Given the description of an element on the screen output the (x, y) to click on. 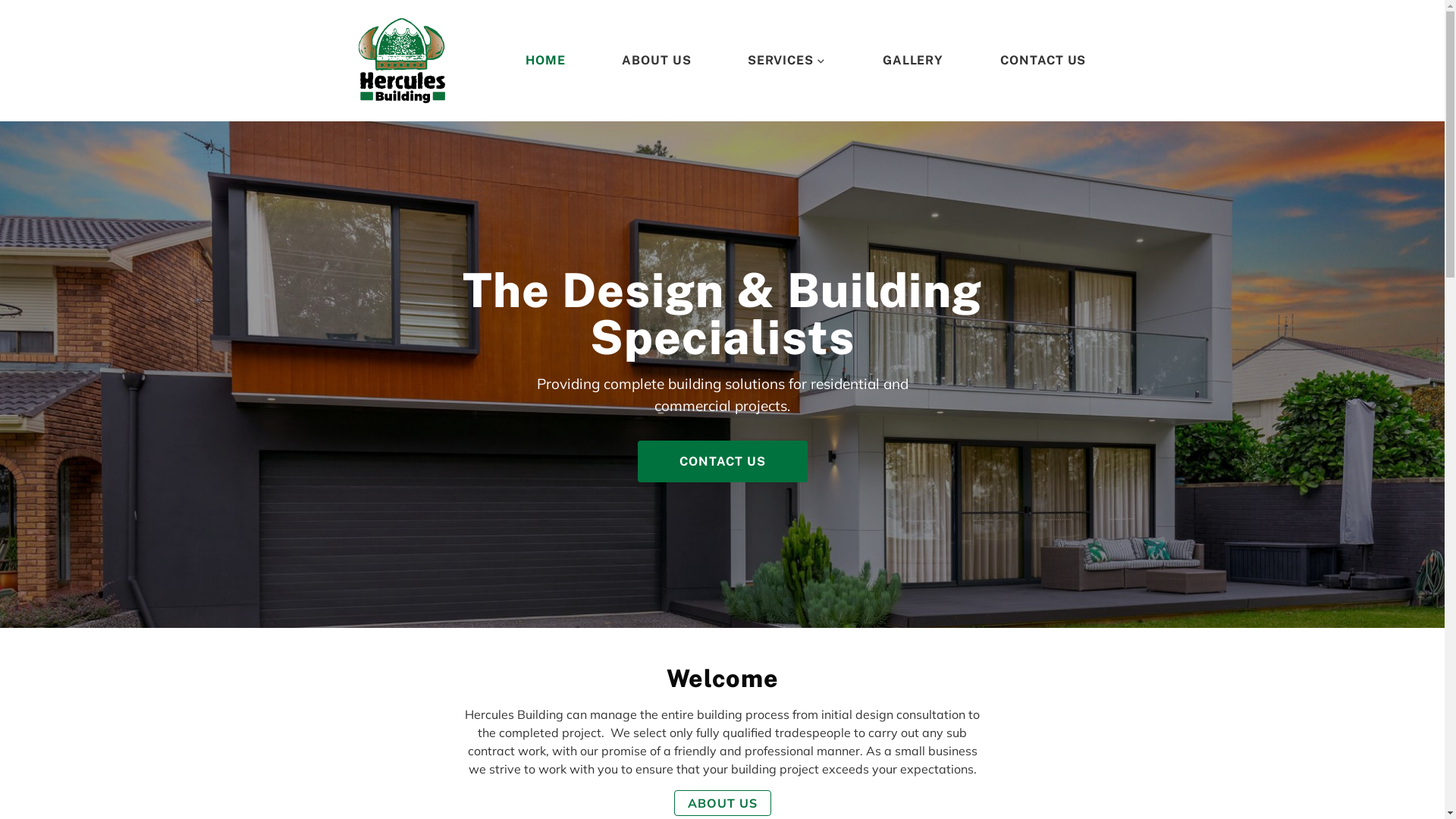
CONTACT US Element type: text (721, 460)
HOME Element type: text (545, 60)
CONTACT US Element type: text (1043, 60)
ABOUT US Element type: text (656, 60)
SERVICES Element type: text (786, 60)
GALLERY Element type: text (913, 60)
ABOUT US Element type: text (721, 802)
